Given the description of an element on the screen output the (x, y) to click on. 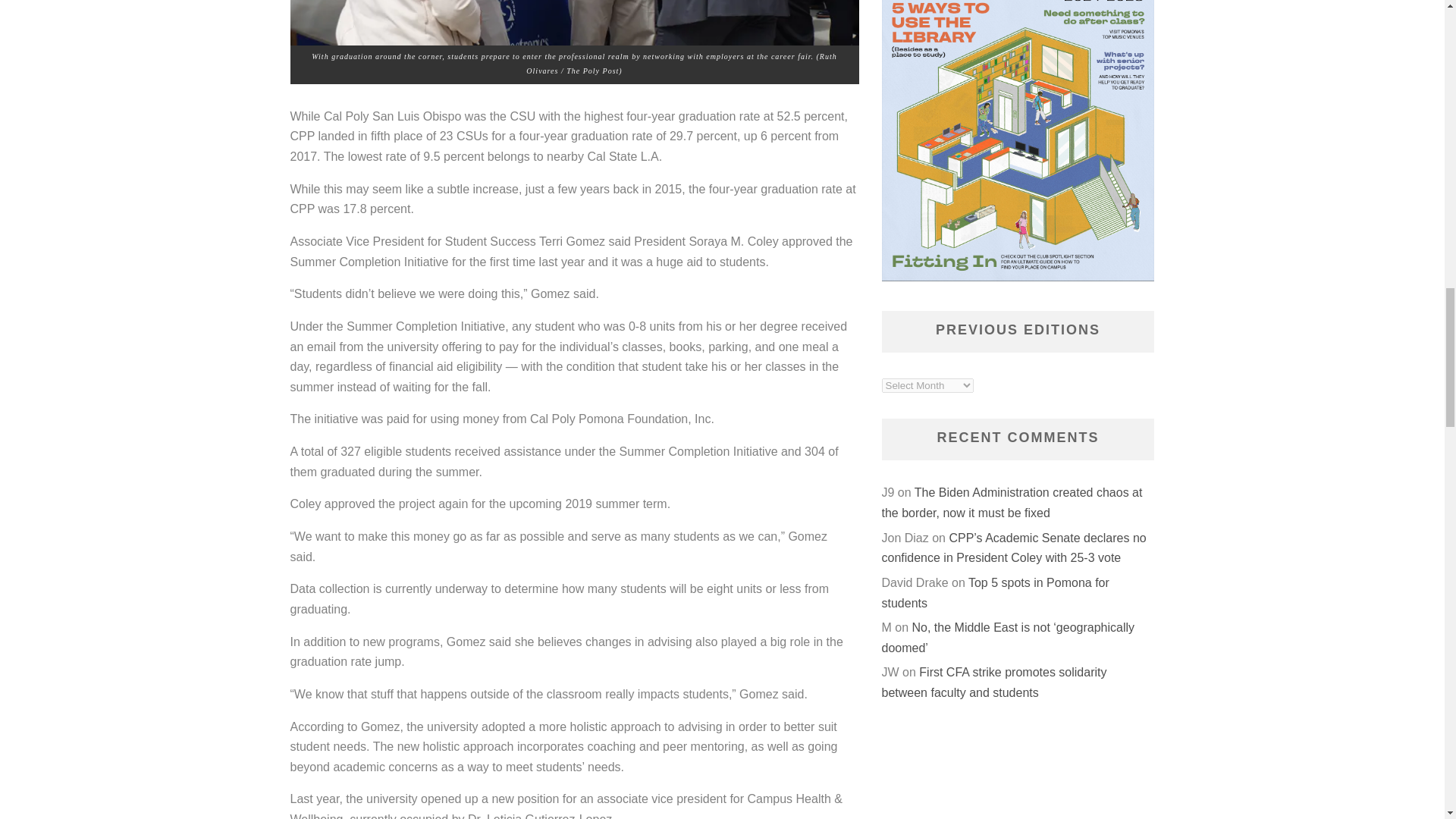
2022 Bronco Guide Magazine (1017, 140)
